Given the description of an element on the screen output the (x, y) to click on. 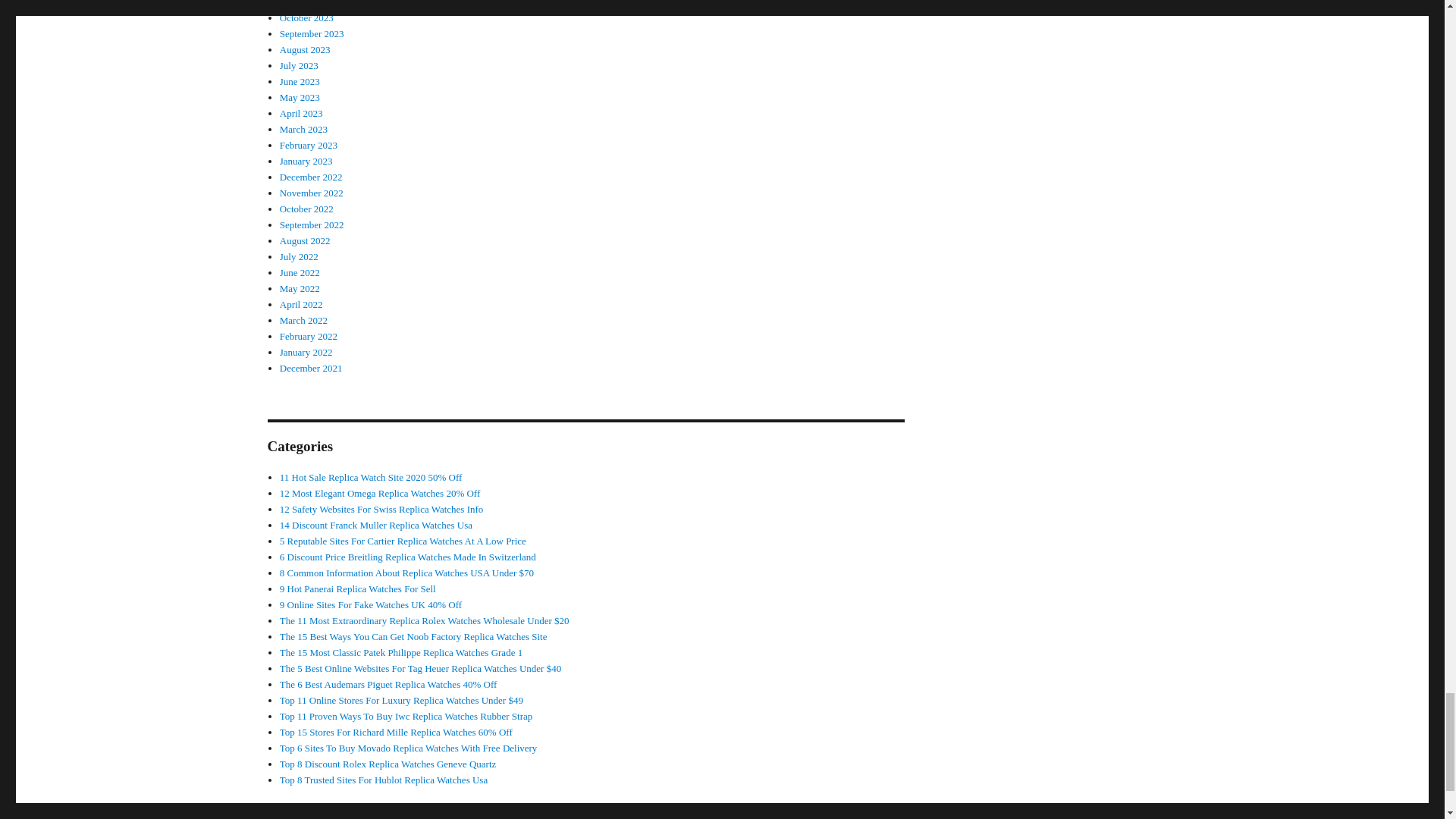
September 2022 (311, 224)
December 2022 (310, 176)
July 2023 (298, 65)
January 2023 (306, 161)
April 2023 (301, 112)
October 2022 (306, 208)
November 2022 (311, 193)
August 2023 (304, 49)
May 2023 (299, 97)
October 2023 (306, 17)
